Given the description of an element on the screen output the (x, y) to click on. 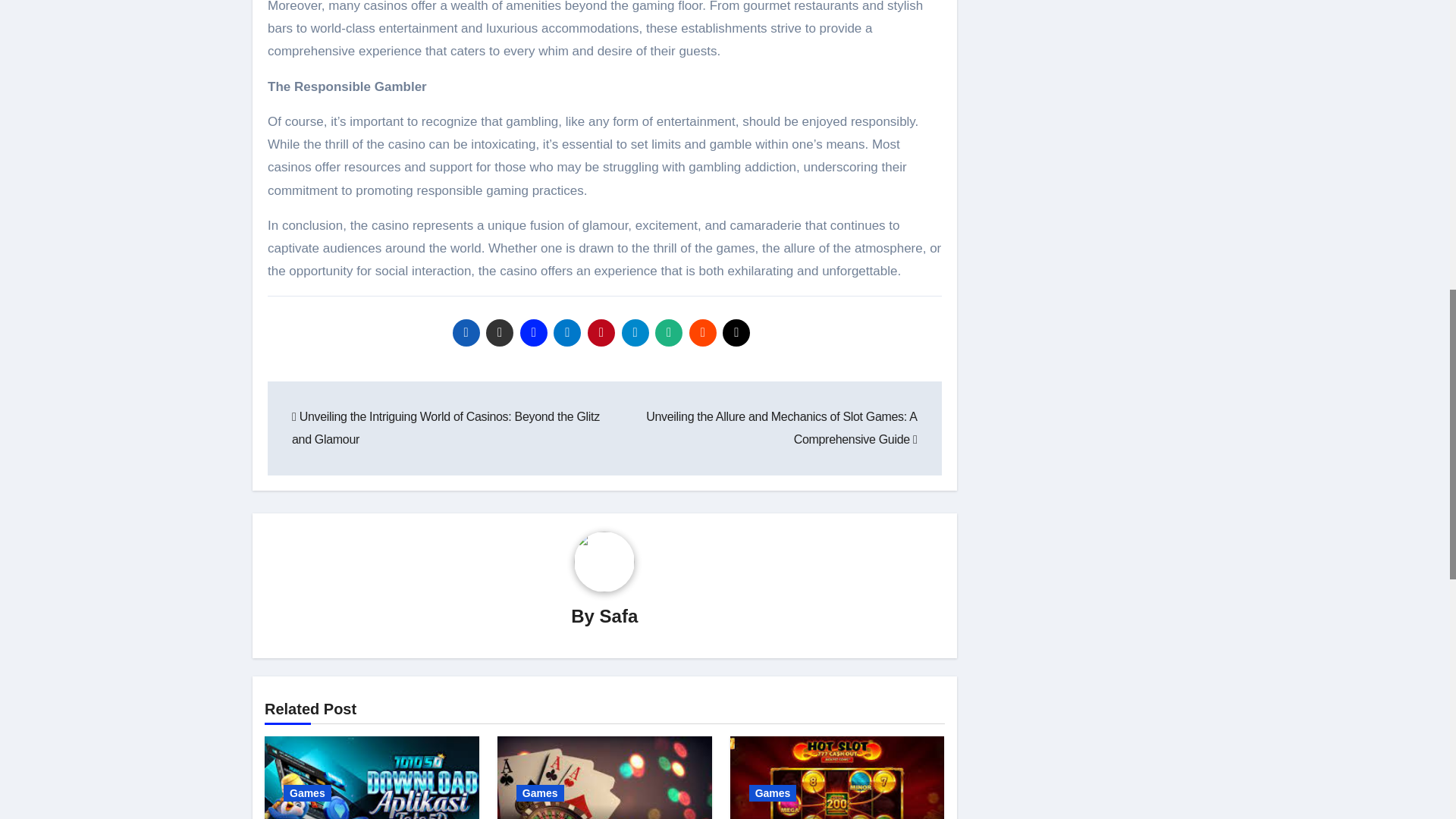
Permalink to: The Evolution and Allure of Casinos (828, 817)
Games (307, 792)
Safa (619, 616)
